Given the description of an element on the screen output the (x, y) to click on. 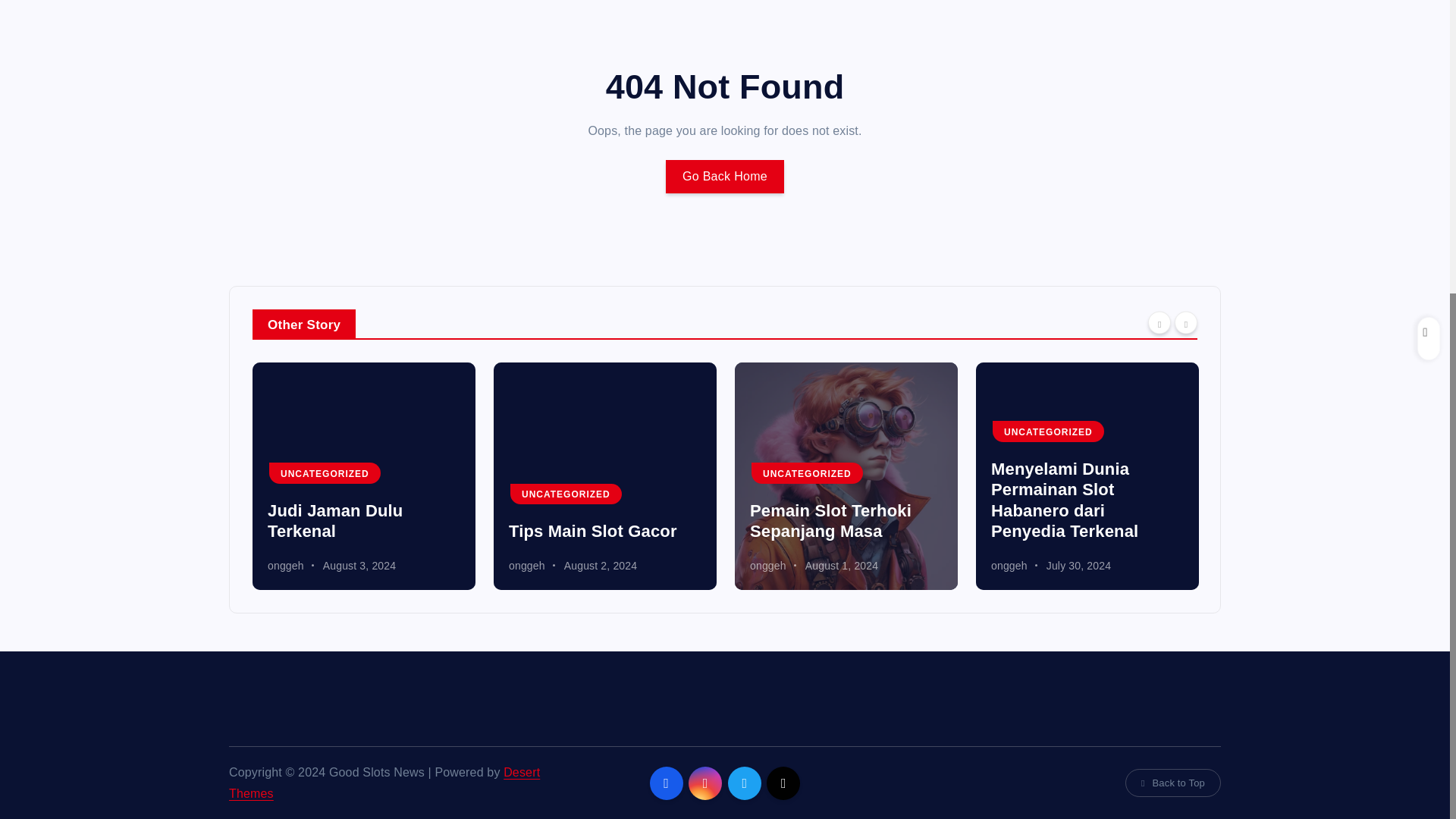
Go Back Home (724, 176)
